Given the description of an element on the screen output the (x, y) to click on. 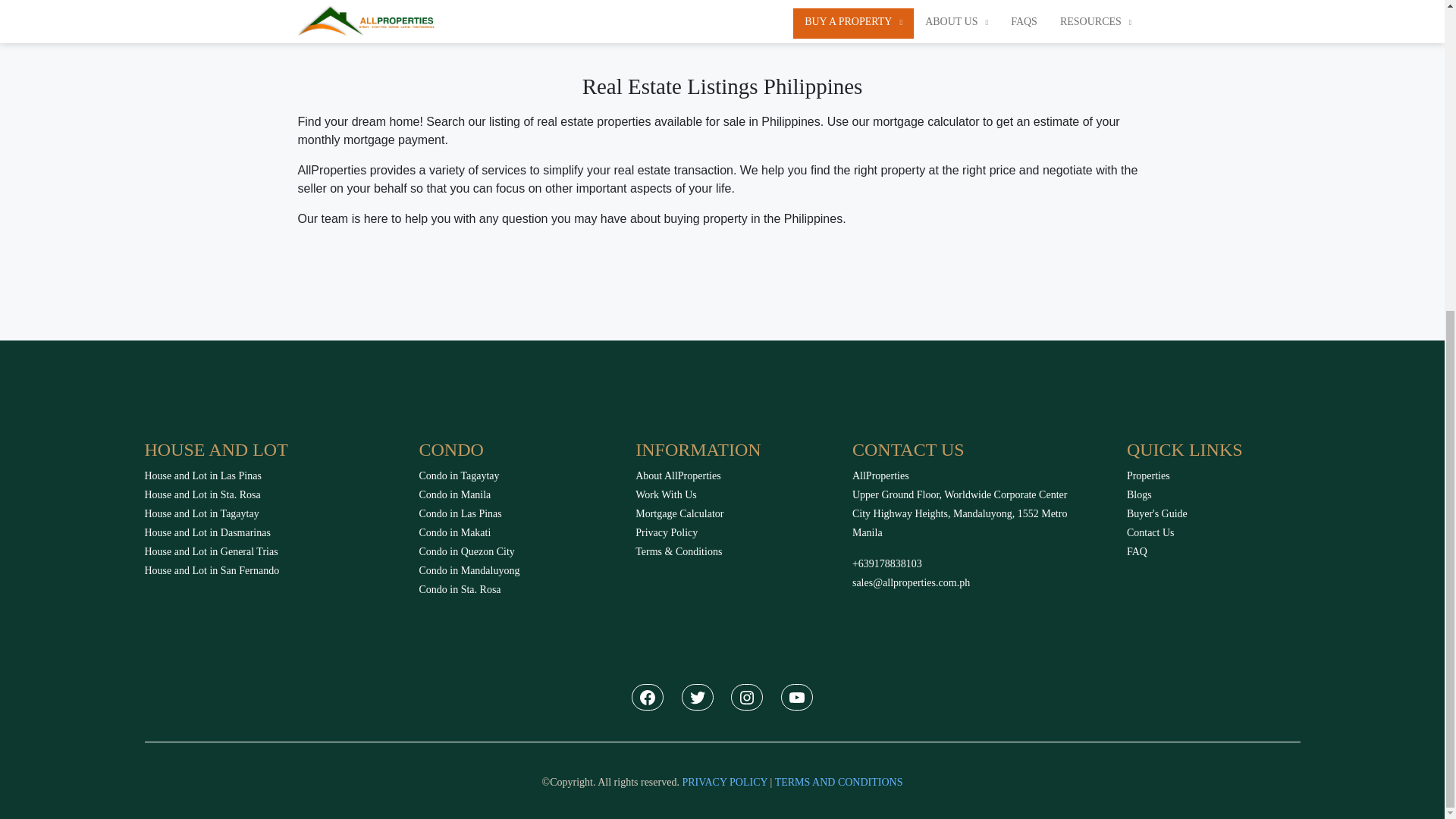
House and Lot in Sta. Rosa (202, 494)
House and Lot in General Trias (211, 551)
House and Lot in Dasmarinas (206, 532)
House and Lot in San Fernando (211, 570)
Calculate (362, 4)
Condo in Tagaytay (459, 475)
House and Lot in Las Pinas (202, 475)
House and Lot in Tagaytay (201, 513)
